Given the description of an element on the screen output the (x, y) to click on. 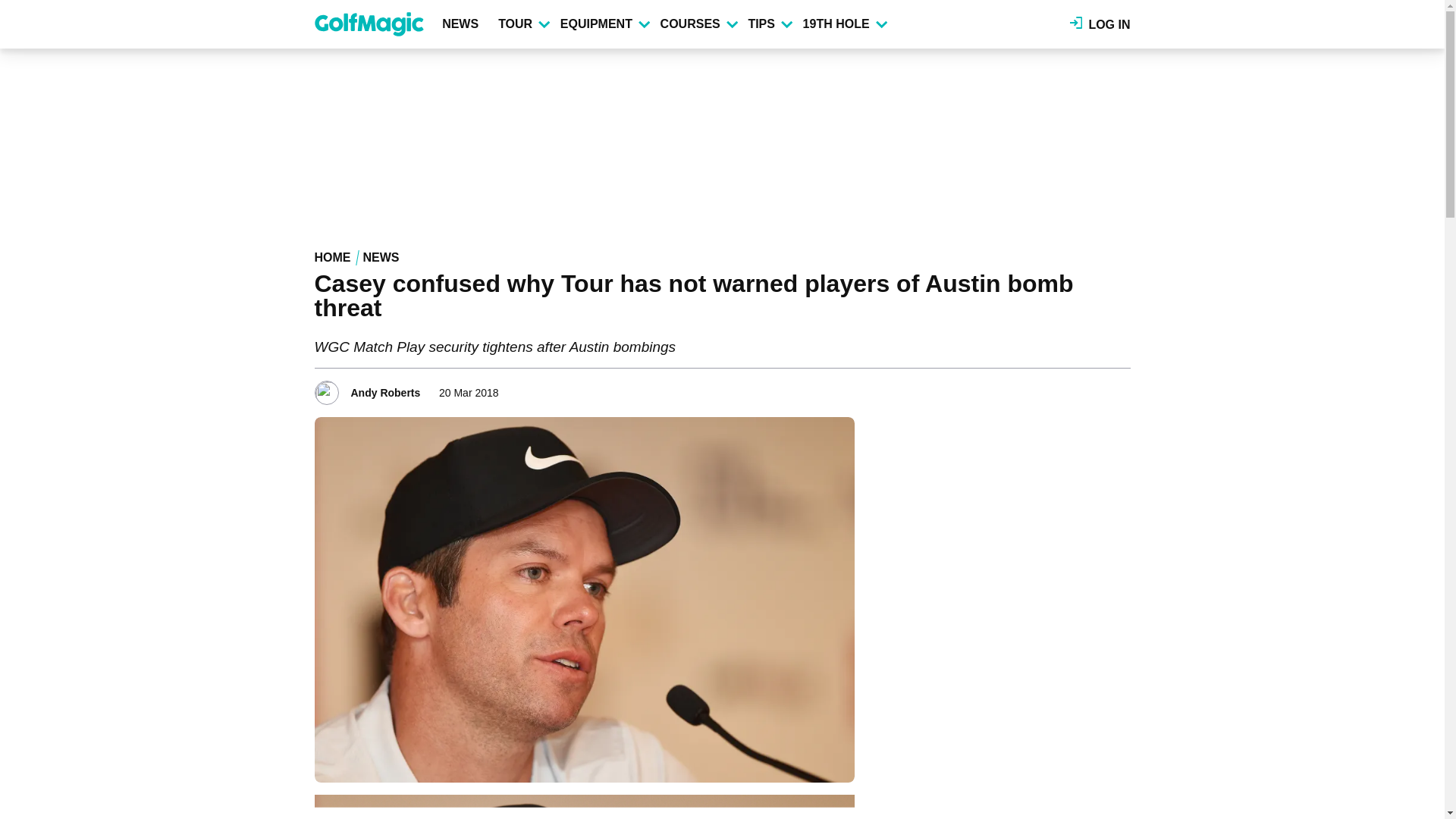
NEWS (463, 24)
Share to X (1076, 387)
Share to Linkedin (1097, 387)
TOUR (523, 24)
EQUIPMENT (603, 24)
Share to Email (1119, 387)
Share to Facebook (1055, 387)
LOG IN (1100, 24)
